Given the description of an element on the screen output the (x, y) to click on. 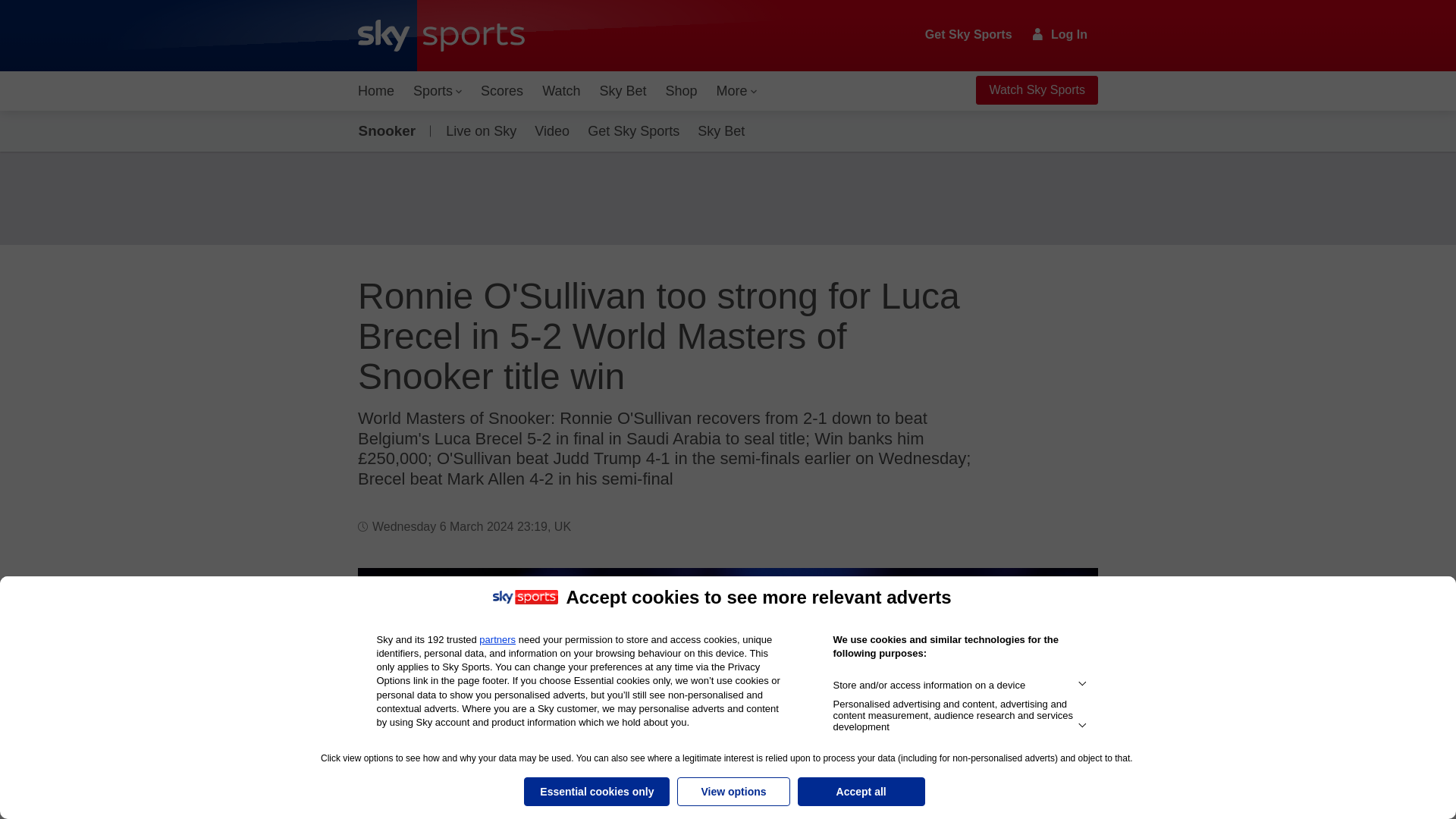
Sports (437, 91)
Shop (681, 91)
More (736, 91)
Snooker (389, 130)
Get Sky Sports (968, 34)
Watch Sky Sports (1036, 90)
Log In (1060, 33)
Home (375, 91)
Live on Sky (477, 130)
Watch (561, 91)
Sky Bet (622, 91)
Scores (502, 91)
